Given the description of an element on the screen output the (x, y) to click on. 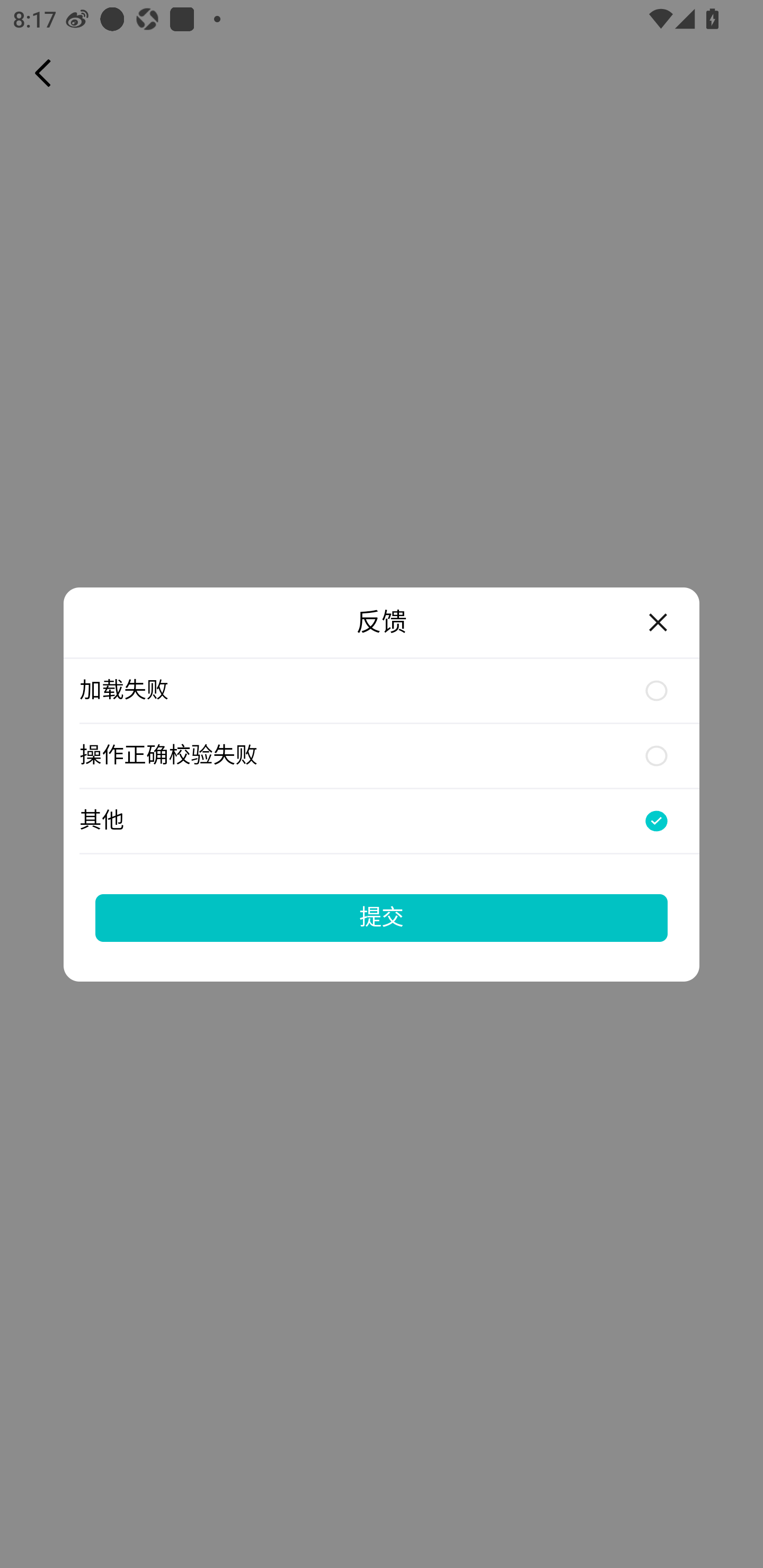
提交 (381, 917)
